Given the description of an element on the screen output the (x, y) to click on. 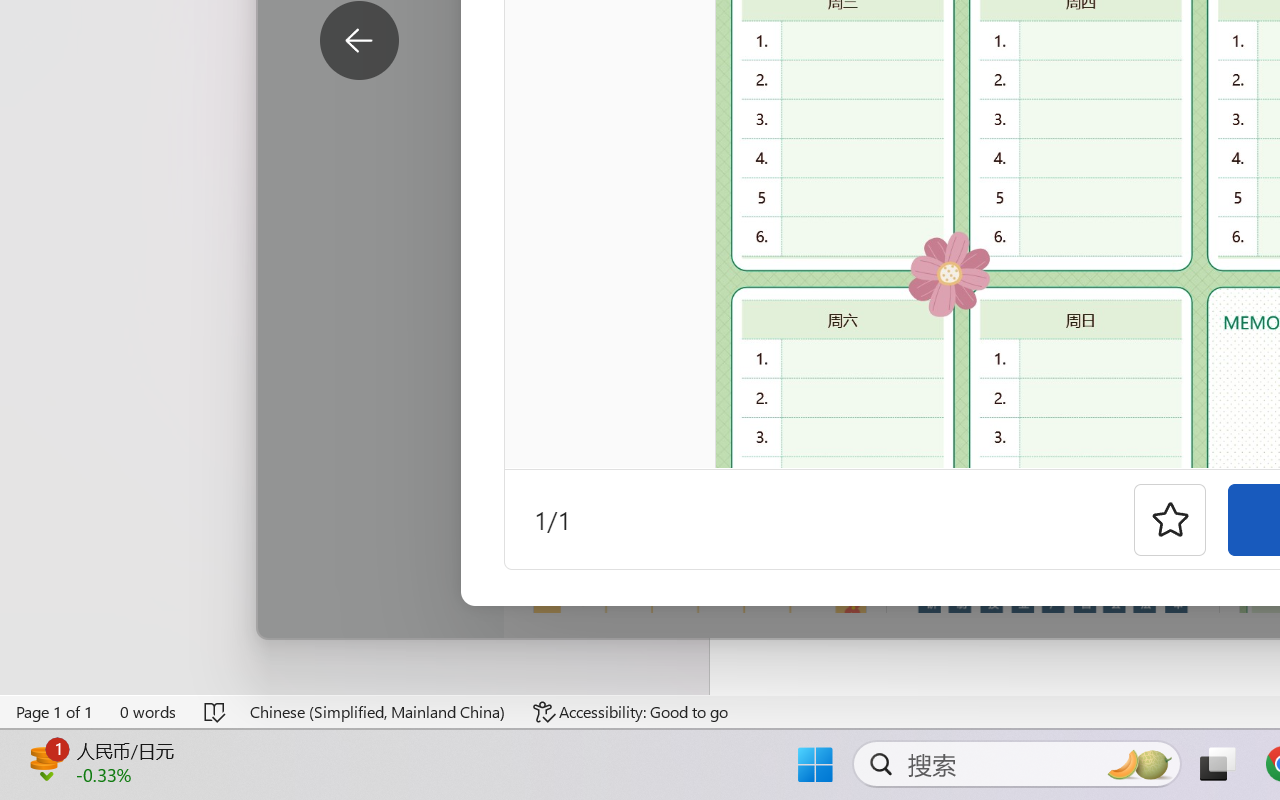
Language Chinese (Simplified, Mainland China) (378, 712)
